Given the description of an element on the screen output the (x, y) to click on. 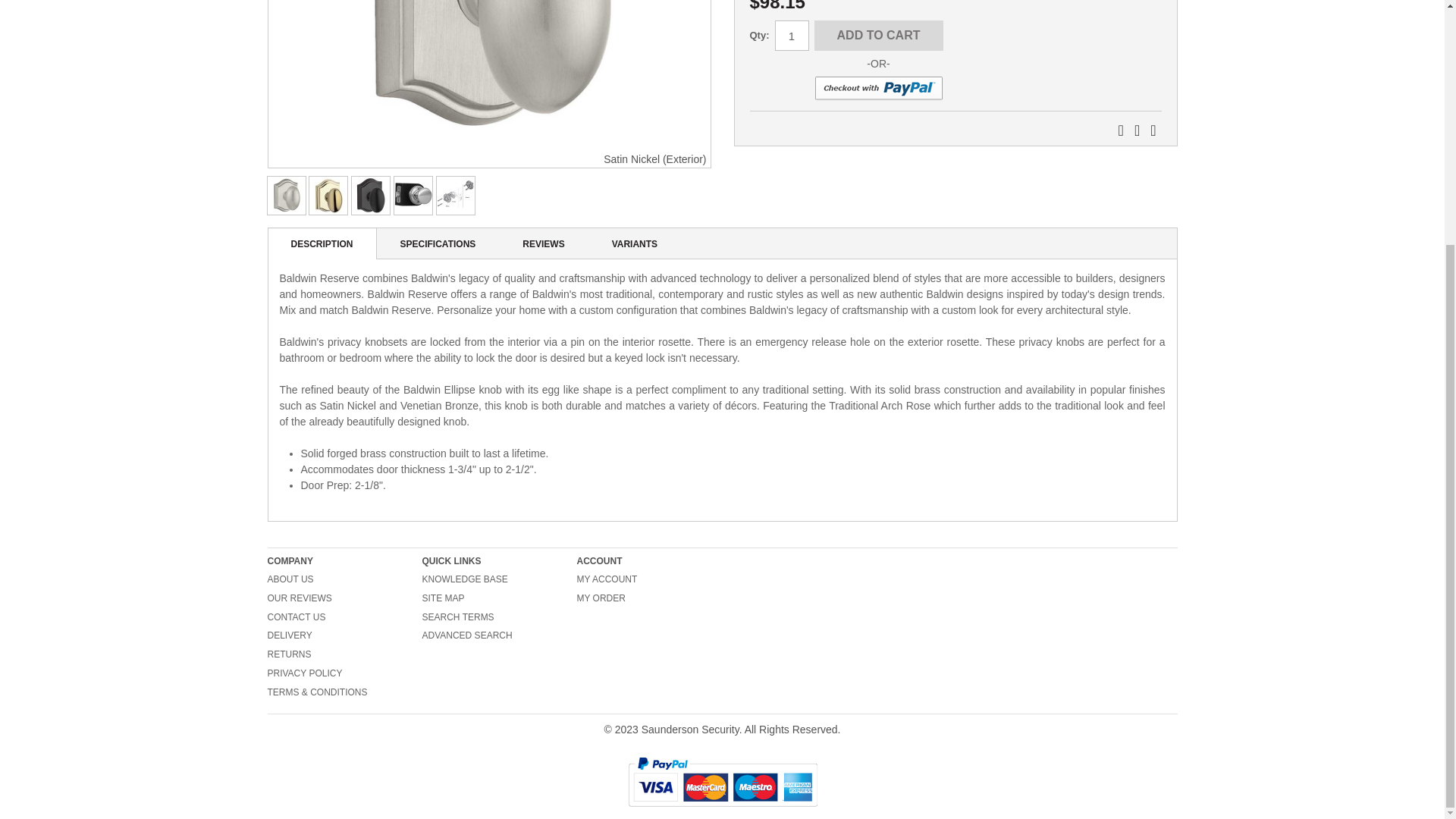
1 (791, 35)
Typical Privacy Knob Interior (412, 195)
